Given the description of an element on the screen output the (x, y) to click on. 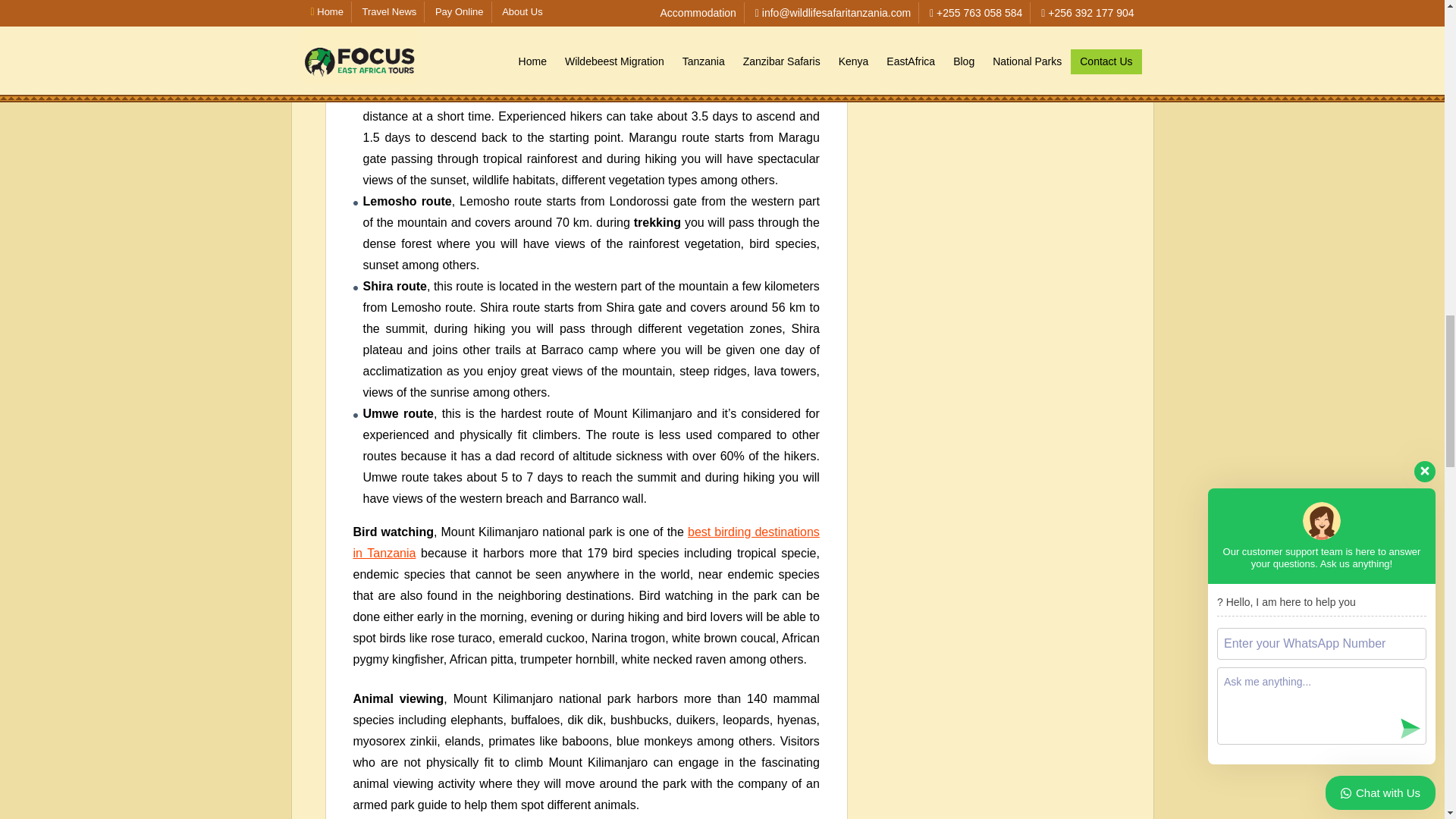
best birding destinations in Tanzania (586, 542)
